Given the description of an element on the screen output the (x, y) to click on. 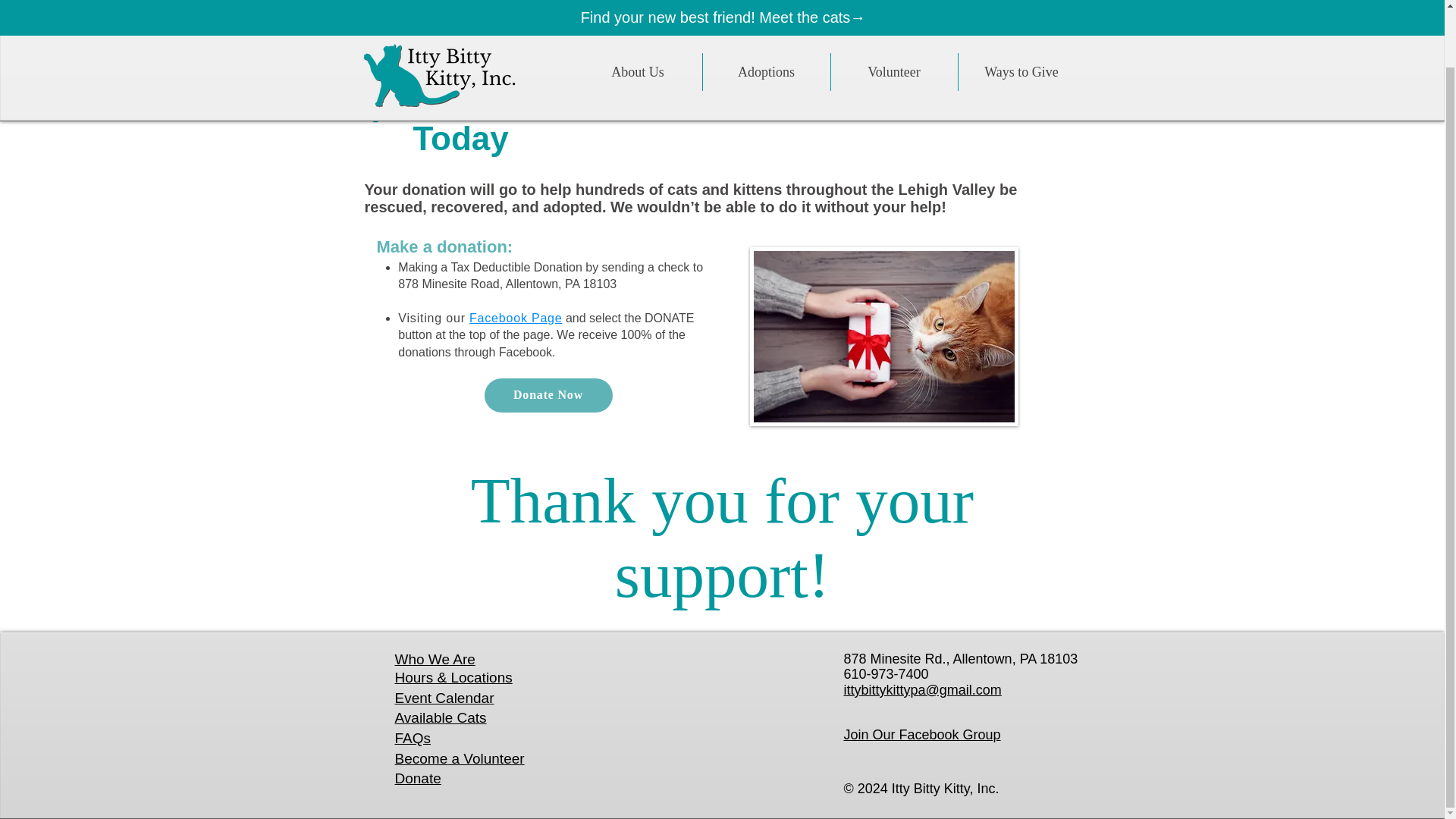
Adoptions (765, 14)
Event Calendar (443, 697)
Facebook Page  (517, 318)
Ways to Give (1020, 14)
Become a Volunteer (459, 758)
About Us (637, 14)
Donate (417, 778)
Donate Now (547, 395)
Join Our Facebook Group (921, 734)
Volunteer (892, 14)
Who We Are (434, 660)
FAQs (412, 738)
Available Cats (440, 717)
